Given the description of an element on the screen output the (x, y) to click on. 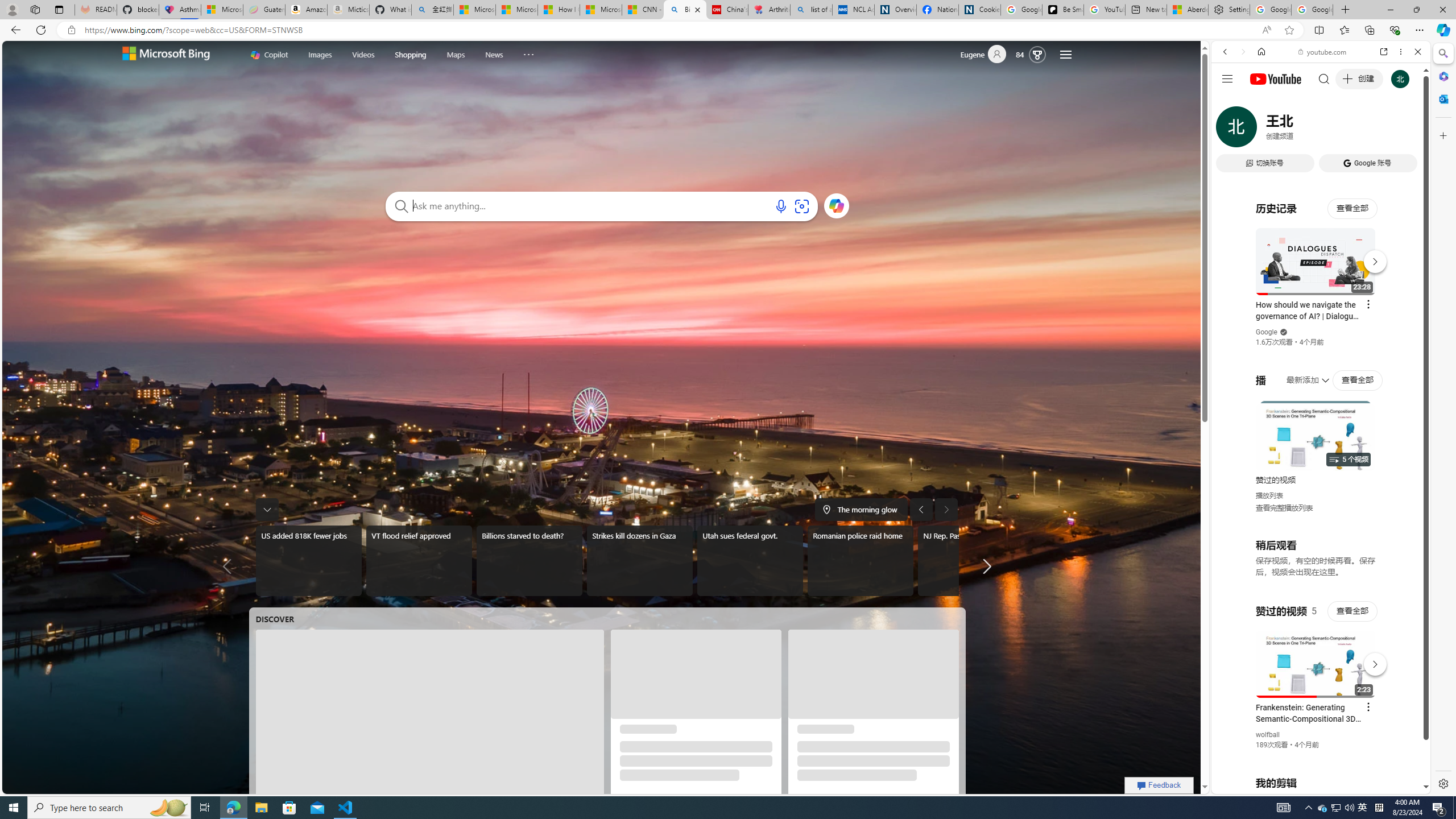
you (1315, 755)
Settings and quick links (1065, 54)
youtube.com (1322, 51)
